Given the description of an element on the screen output the (x, y) to click on. 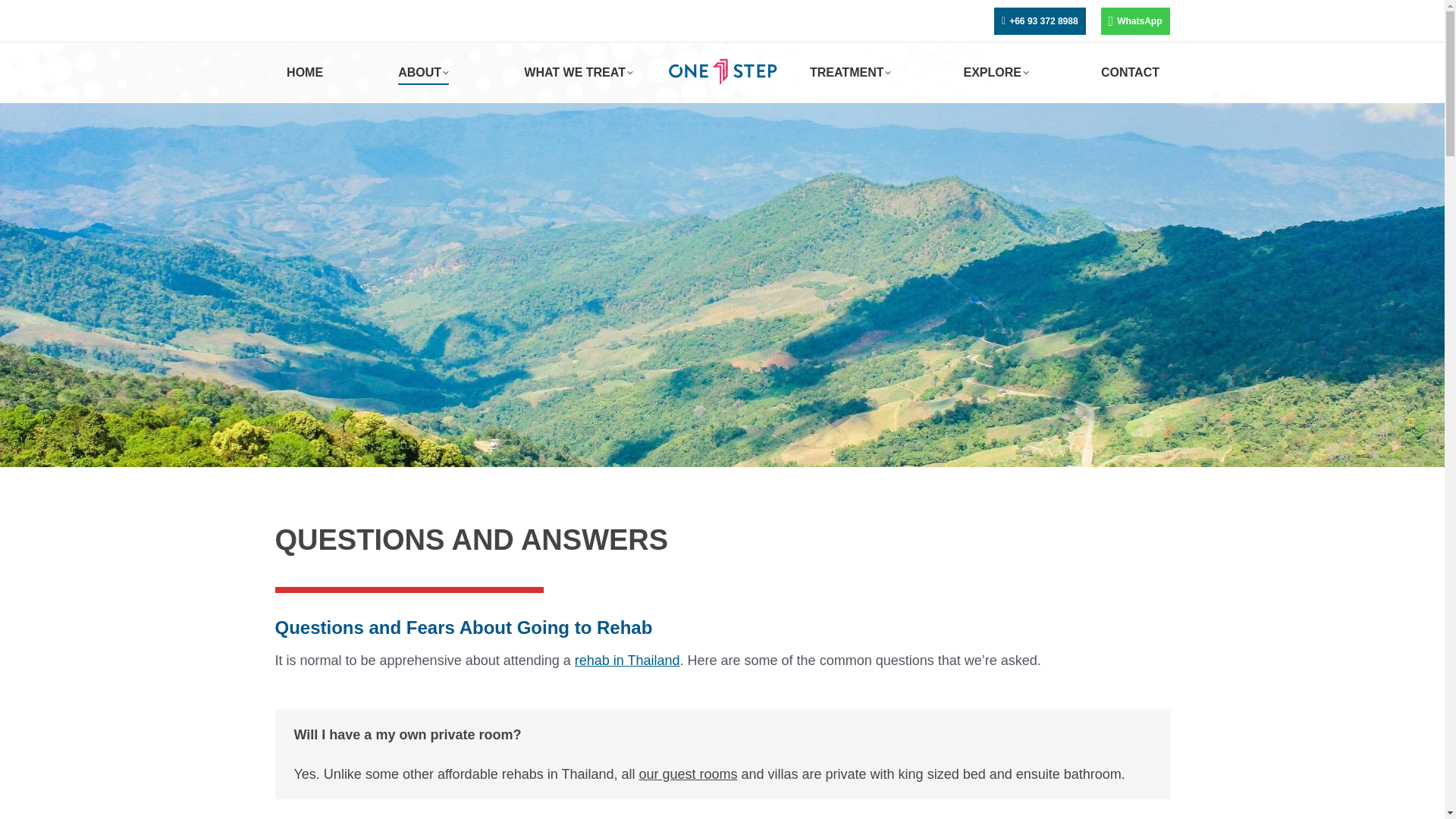
TREATMENT (849, 72)
WHAT WE TREAT (579, 72)
EXPLORE (995, 72)
HOME (304, 72)
WhatsApp (1135, 21)
CONTACT (1130, 72)
ABOUT (423, 72)
